Given the description of an element on the screen output the (x, y) to click on. 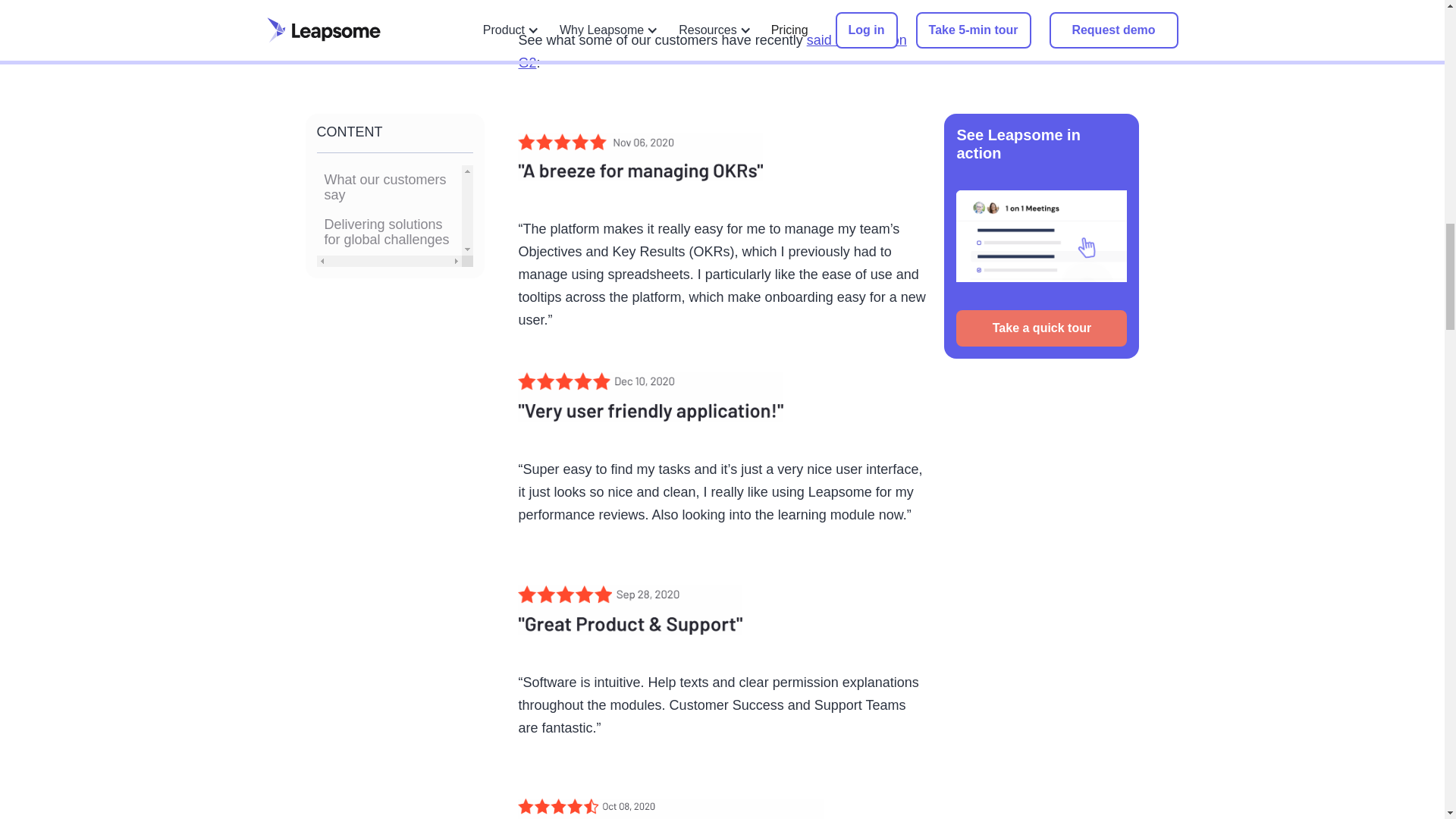
said about us on G2 (711, 51)
